Given the description of an element on the screen output the (x, y) to click on. 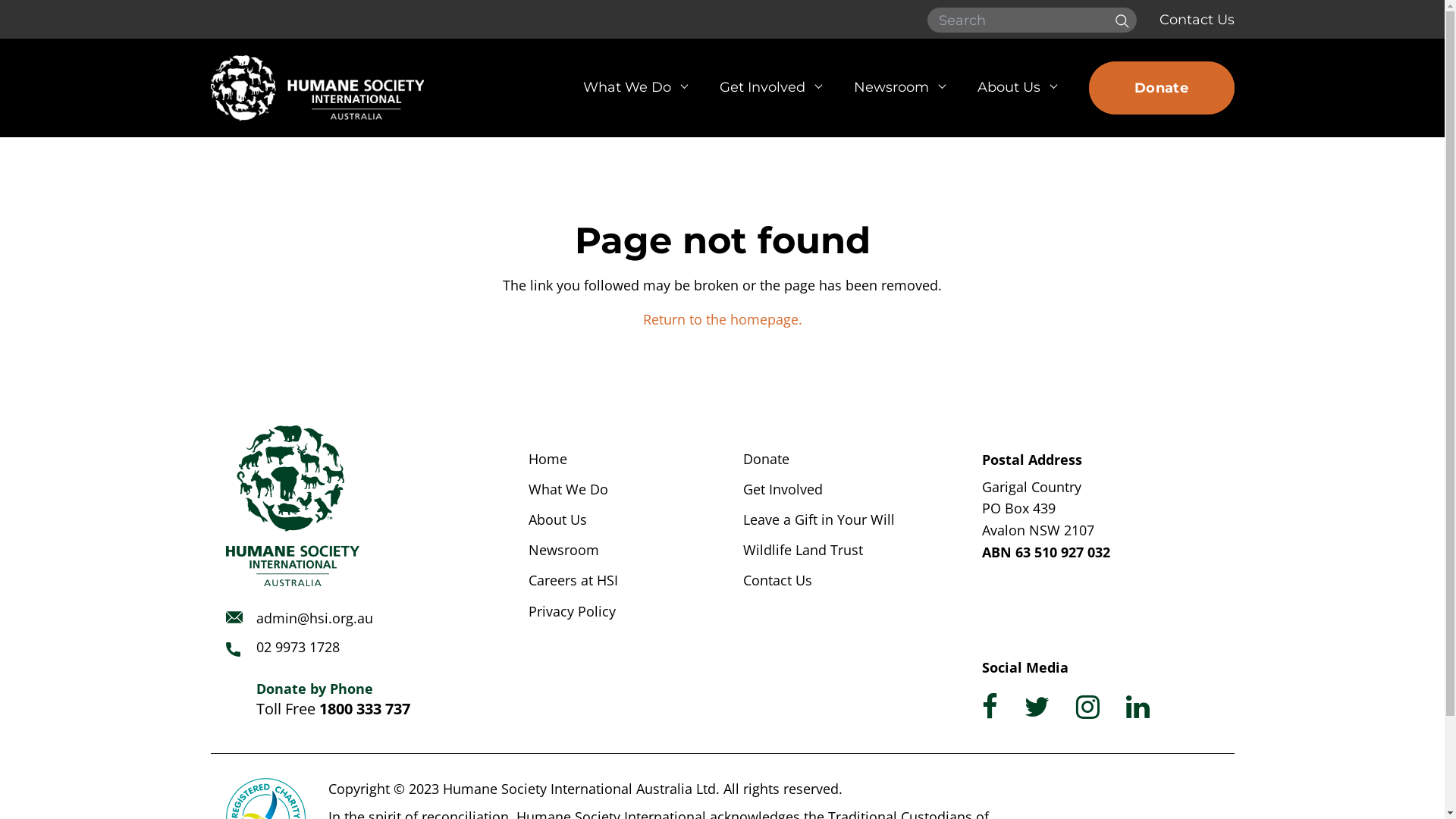
Contact Us Element type: text (777, 580)
Contact Us Element type: text (1195, 19)
Donate Element type: text (1161, 87)
Submit Element type: text (1119, 19)
Privacy Policy Element type: text (571, 611)
Leave a Gift in Your Will Element type: text (818, 519)
Careers at HSI Element type: text (572, 580)
Close Element type: text (1210, 80)
What We Do Element type: text (567, 489)
Get Involved Element type: text (782, 489)
02 9973 1728 Element type: text (297, 646)
Home Element type: text (546, 458)
admin@hsi.org.au Element type: text (314, 617)
Donate Element type: text (766, 458)
Return to the homepage. Element type: text (722, 319)
Humane Society International (HSI) Element type: hover (316, 87)
About Us Element type: text (556, 519)
Newsroom Element type: text (897, 87)
Newsroom Element type: text (562, 549)
What We Do Element type: text (633, 87)
Get Involved Element type: text (769, 87)
Wildlife Land Trust Element type: text (802, 549)
1800 333 737 Element type: text (363, 708)
About Us Element type: text (1016, 87)
